Given the description of an element on the screen output the (x, y) to click on. 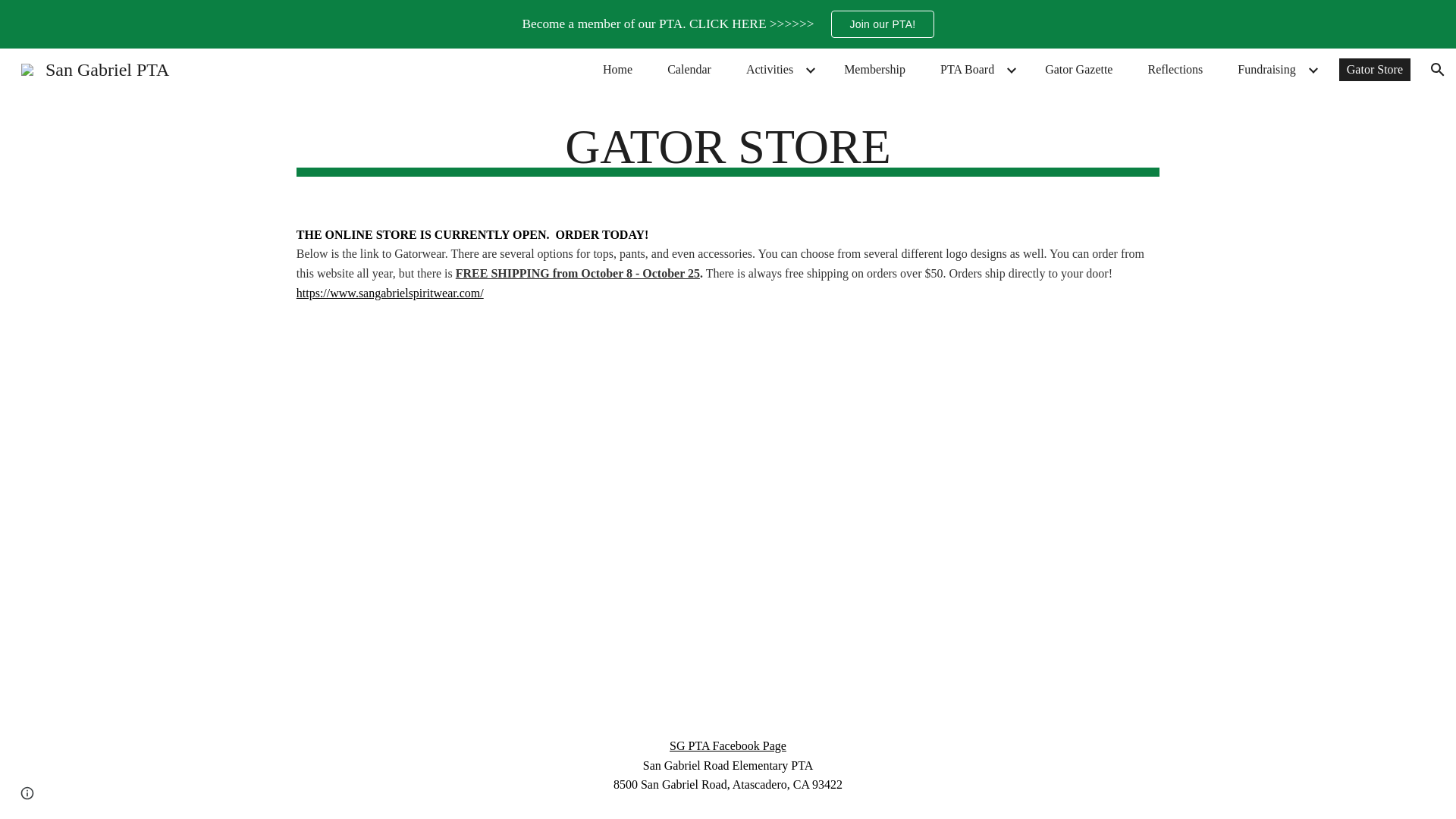
Join our PTA! (882, 23)
Gator Gazette (1077, 69)
Join our PTA! (882, 23)
Calendar (689, 69)
Membership (873, 69)
PTA Board (967, 69)
Activities (769, 69)
Home (617, 69)
San Gabriel PTA (94, 67)
Reflections (1174, 69)
